Given the description of an element on the screen output the (x, y) to click on. 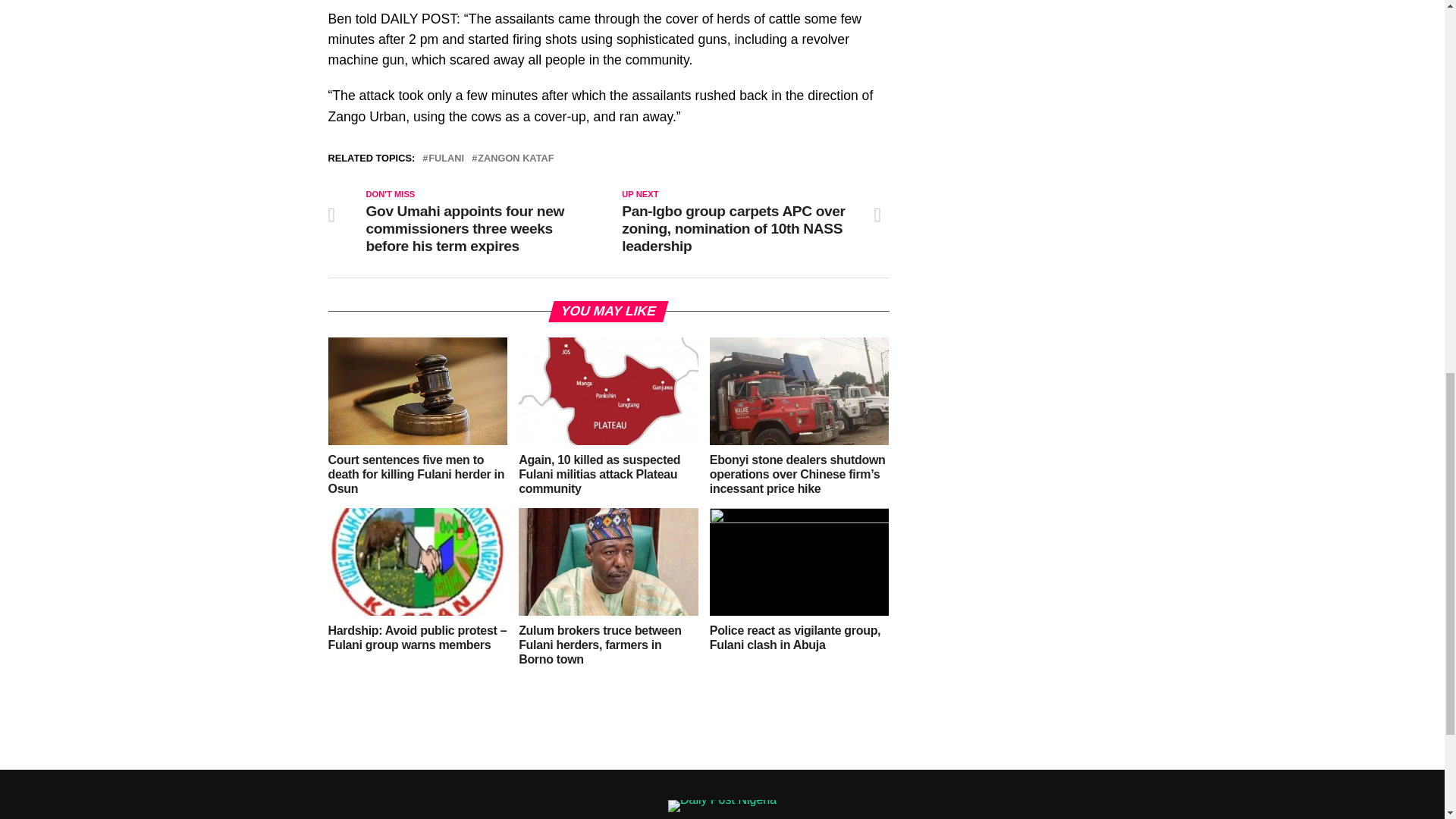
ZANGON KATAF (515, 158)
FULANI (446, 158)
